Given the description of an element on the screen output the (x, y) to click on. 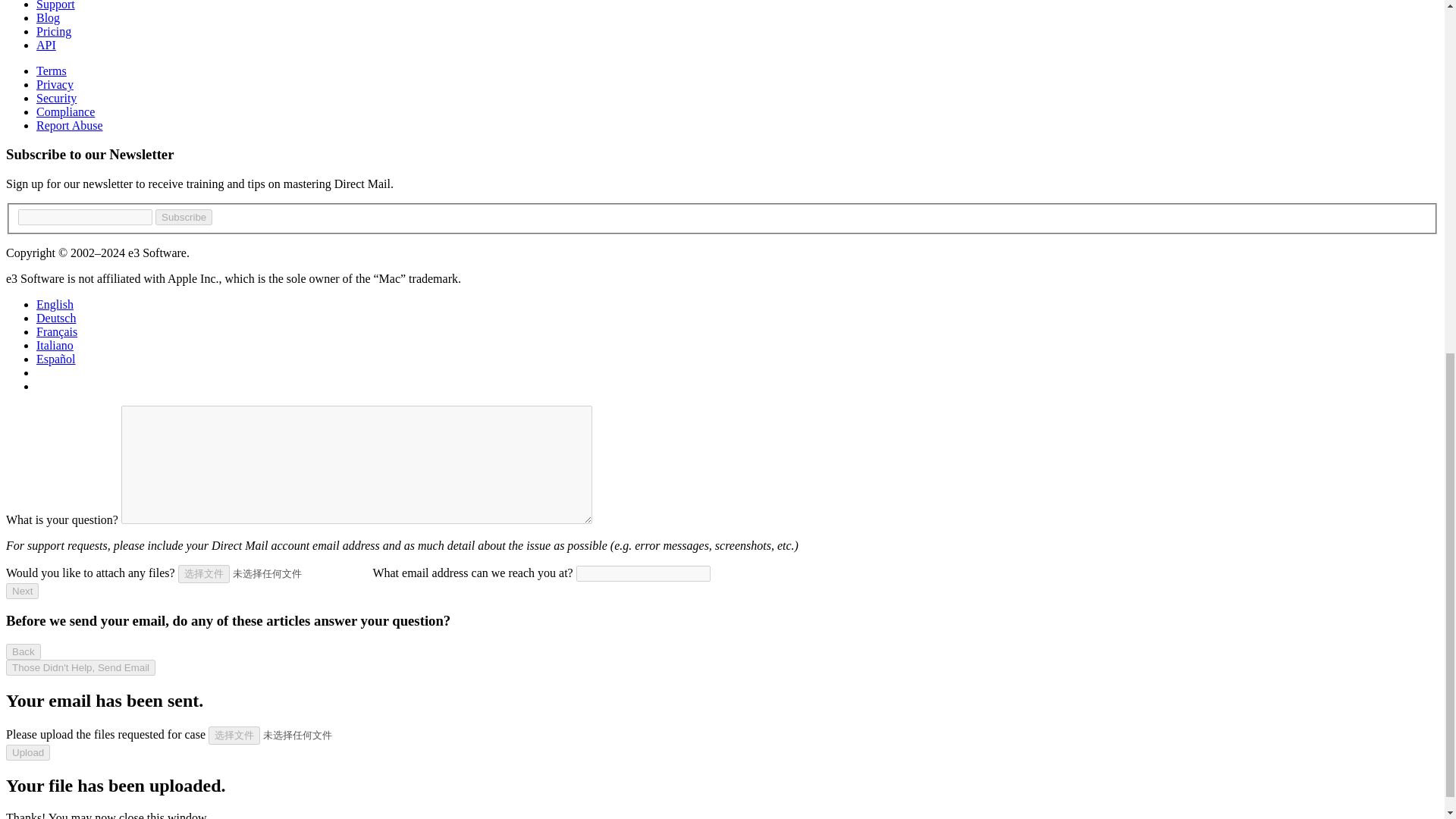
Pricing (53, 31)
Subscribe (183, 217)
Support (55, 5)
Deutsch (55, 318)
Back (22, 651)
Upload (27, 752)
Those Didn't Help, Send Email (80, 667)
API (46, 44)
Subscribe (183, 217)
Italiano (55, 345)
Privacy (55, 83)
Next (22, 590)
English (55, 304)
Compliance (65, 111)
Upload (27, 752)
